Given the description of an element on the screen output the (x, y) to click on. 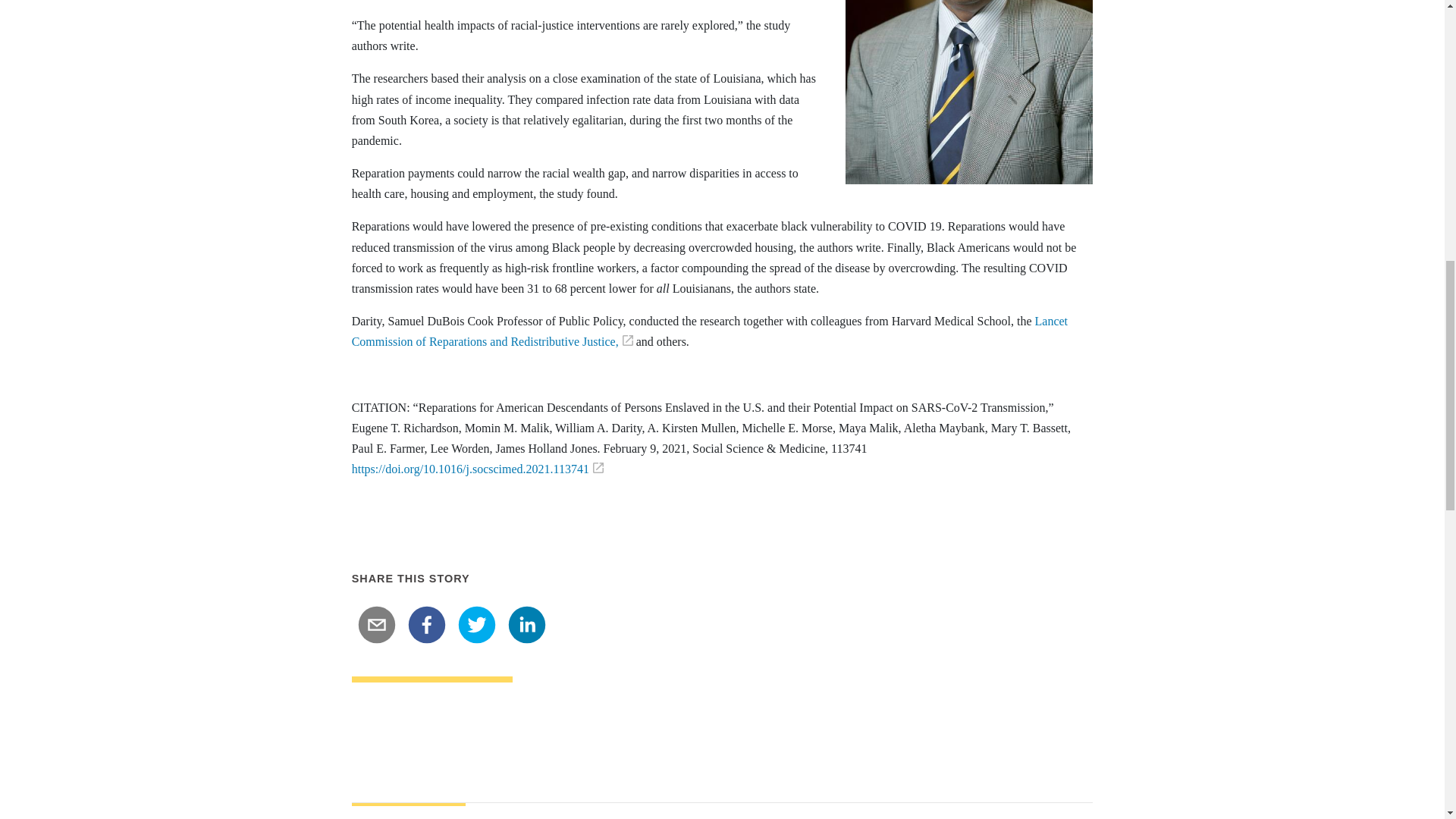
Persistent link using digital object identifier (478, 468)
Lancet Commission of Reparations and Redistributive Justice, (709, 331)
